Given the description of an element on the screen output the (x, y) to click on. 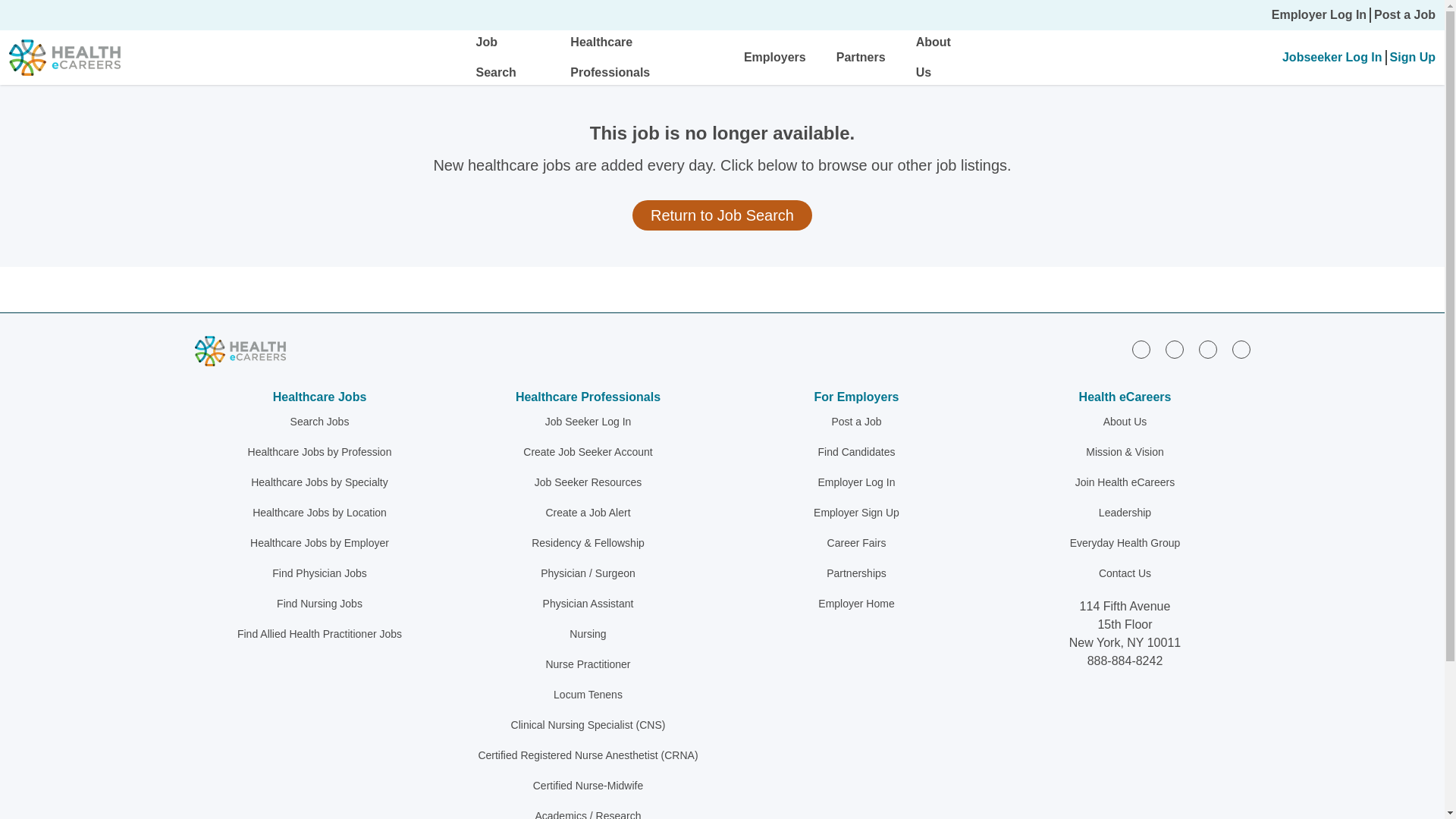
Employers (775, 56)
facebook (1173, 349)
Healthcare Professionals (609, 57)
Employer Log In (1319, 14)
twitter (1206, 349)
Post a Job (1404, 14)
youtube (1240, 349)
Job Search (496, 57)
linkedin (1140, 349)
